Given the description of an element on the screen output the (x, y) to click on. 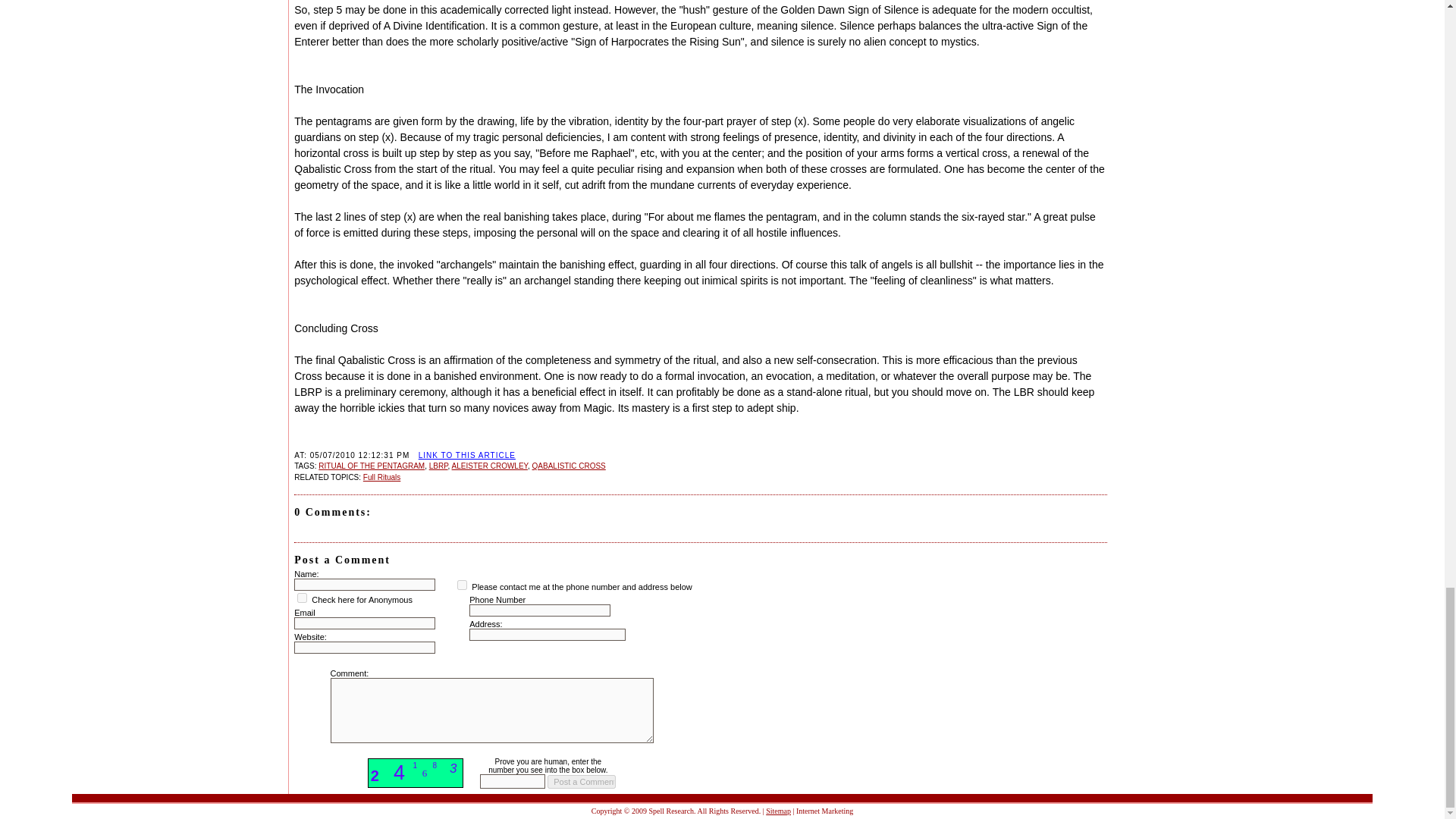
RITUAL OF THE PENTAGRAM (371, 465)
T (462, 584)
Full Rituals (381, 477)
Post a Comment (581, 781)
T (302, 597)
QABALISTIC CROSS (568, 465)
LBRP (438, 465)
Post a Comment (581, 781)
ALEISTER CROWLEY (489, 465)
LINK TO THIS ARTICLE (467, 455)
